Given the description of an element on the screen output the (x, y) to click on. 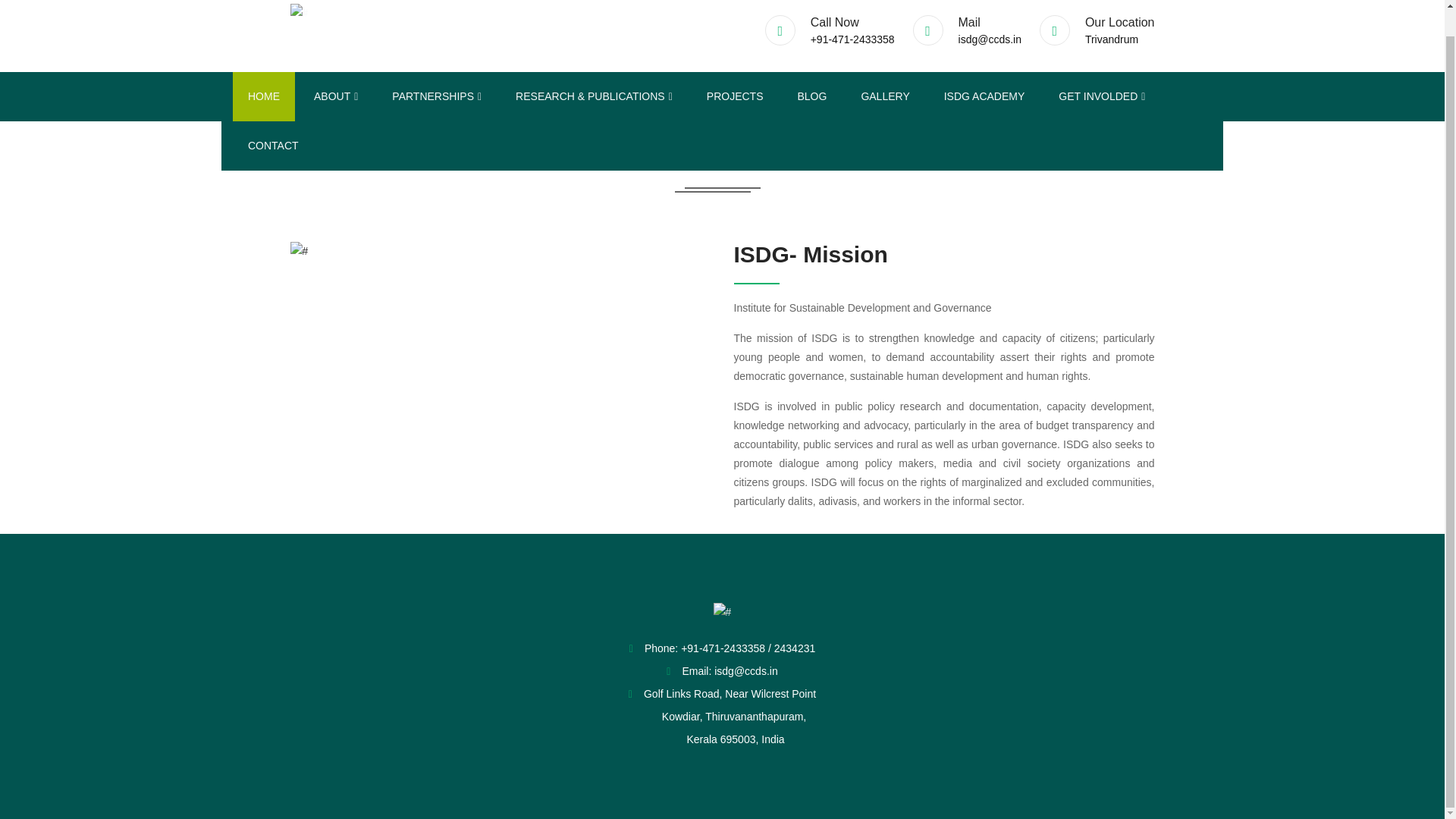
PARTNERSHIPS (436, 96)
GET INVOLDED (1101, 96)
CONTACT (273, 145)
HOME (263, 96)
PROJECTS (734, 96)
GALLERY (884, 96)
ISDG ACADEMY (984, 96)
ABOUT (335, 96)
BLOG (811, 96)
